Given the description of an element on the screen output the (x, y) to click on. 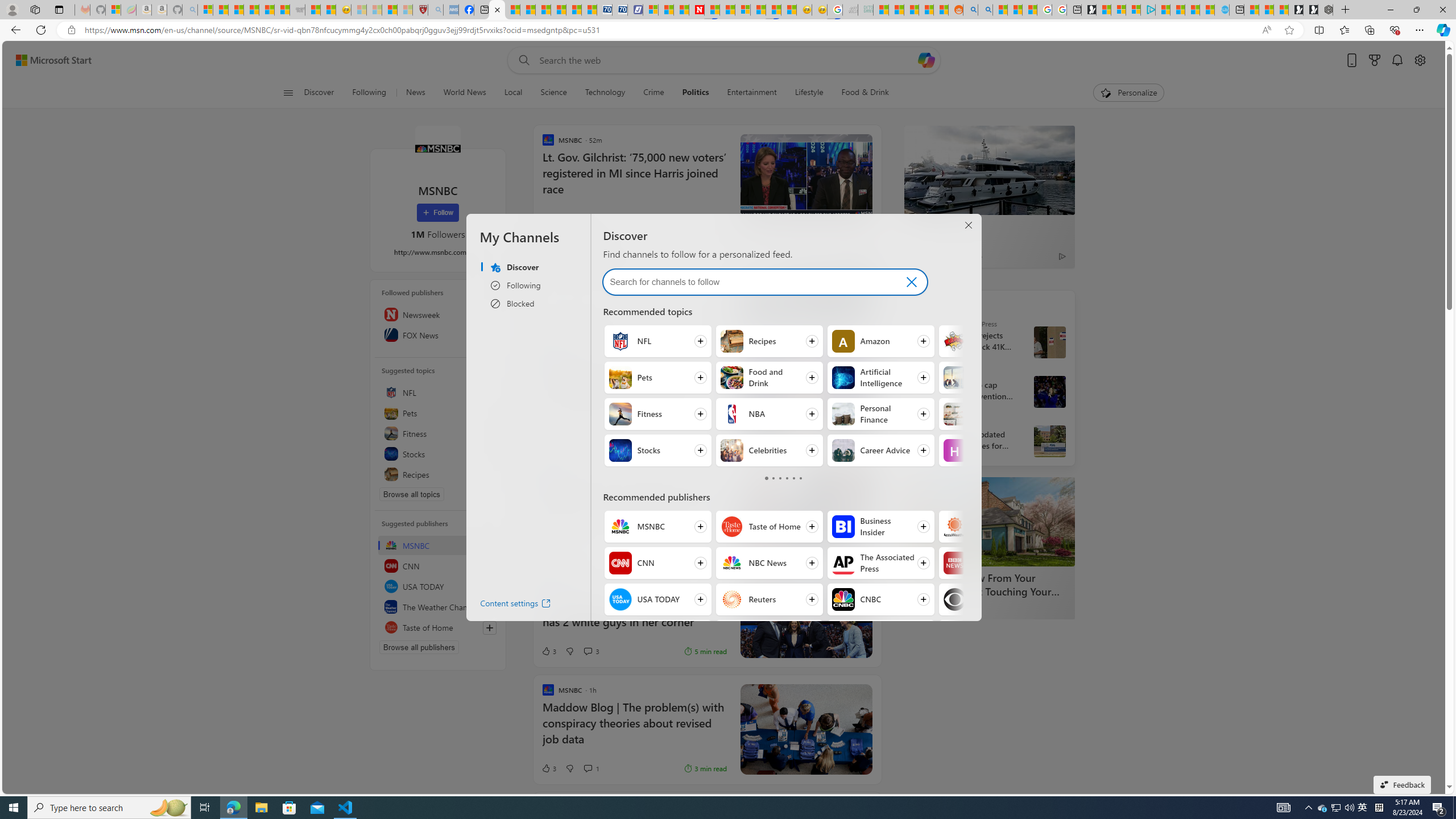
CNN (619, 563)
Career Advice (842, 449)
Trusted Community Engagement and Contributions | Guidelines (711, 9)
Local (513, 92)
Follow NBA (768, 413)
Follow Artificial Intelligence (880, 377)
Follow BBC (992, 563)
Politics (694, 92)
oceanbluemarine (587, 318)
